Given the description of an element on the screen output the (x, y) to click on. 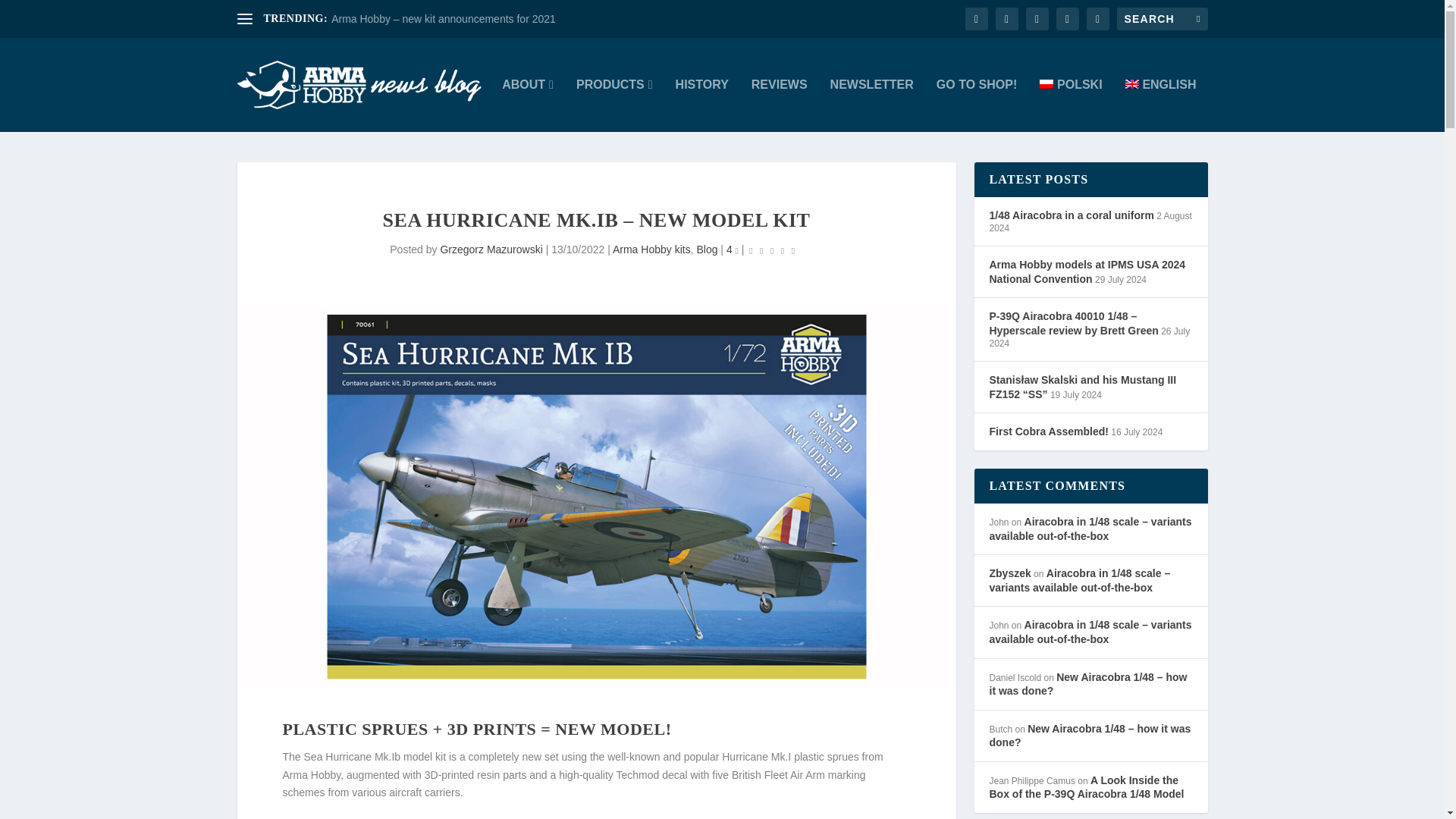
Sklep modelarski Arma Hobby (976, 104)
ENGLISH (1160, 104)
PRODUCTS (614, 104)
NEWSLETTER (871, 104)
Blog (706, 249)
Rating: 0.00 (771, 250)
GO TO SHOP! (976, 104)
polski (1070, 104)
Grzegorz Mazurowski (490, 249)
4 (732, 249)
